Given the description of an element on the screen output the (x, y) to click on. 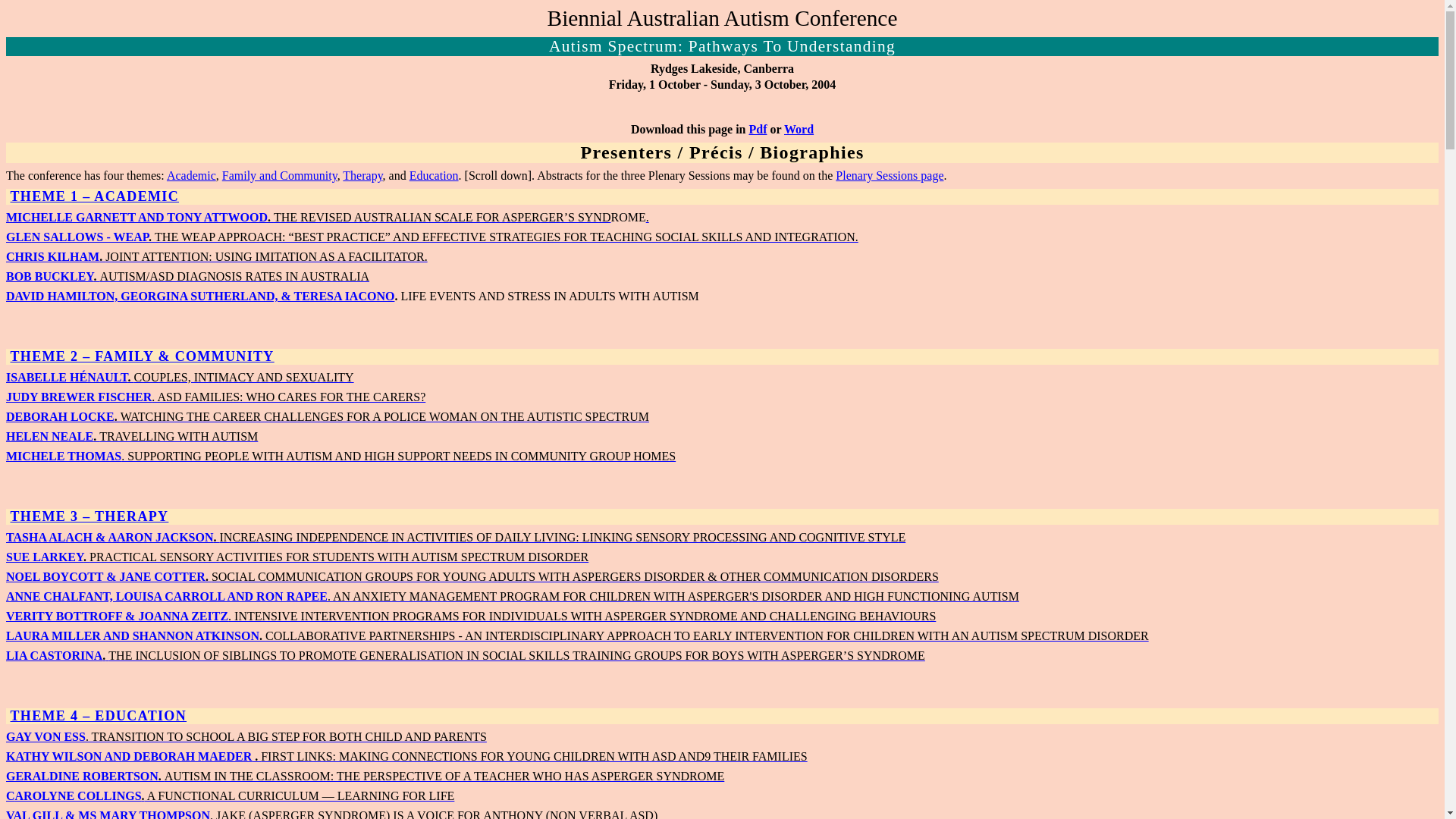
VERITY BOTTROFF & JOANNA ZEITZ Element type: text (117, 615)
ANNE CHALFANT, LOUISA CARROLL AND RON RAPEE Element type: text (166, 595)
Word Element type: text (798, 128)
AROLYNE COLLINGS Element type: text (78, 795)
JUDY BREWER FISCHER Element type: text (78, 396)
DAVID HAMILTON, GEORGINA SUTHERLAND, & TERESA IACONO Element type: text (200, 295)
GAY VON ESS Element type: text (45, 736)
Academic Element type: text (191, 175)
Family and Community Element type: text (279, 175)
LIA CASTORINA Element type: text (54, 655)
LAURA MILLER AND SHANNON ATKINSON Element type: text (132, 635)
MICHELE THOMAS Element type: text (63, 455)
NOEL BOYCOTT & JANE COTTER Element type: text (105, 576)
Plenary Sessions page Element type: text (889, 175)
C Element type: text (10, 795)
MICHELLE GARNETT AND TONY ATTWOOD Element type: text (136, 216)
BOB BUCKLEY Element type: text (49, 275)
SUE LARKEY Element type: text (44, 556)
Therapy Element type: text (362, 175)
Pdf Element type: text (757, 128)
GLEN SALLOWS - WEAP Element type: text (77, 236)
Education Element type: text (433, 175)
DEBORAH LOCKE Element type: text (60, 416)
KATHY WILSON AND DEBORAH MAEDER Element type: text (128, 755)
CHRIS KILHAM Element type: text (52, 256)
TASHA ALACH & AARON JACKSON Element type: text (109, 536)
HELEN NEALE Element type: text (49, 435)
GERALDINE ROBERTSON Element type: text (82, 775)
